Given the description of an element on the screen output the (x, y) to click on. 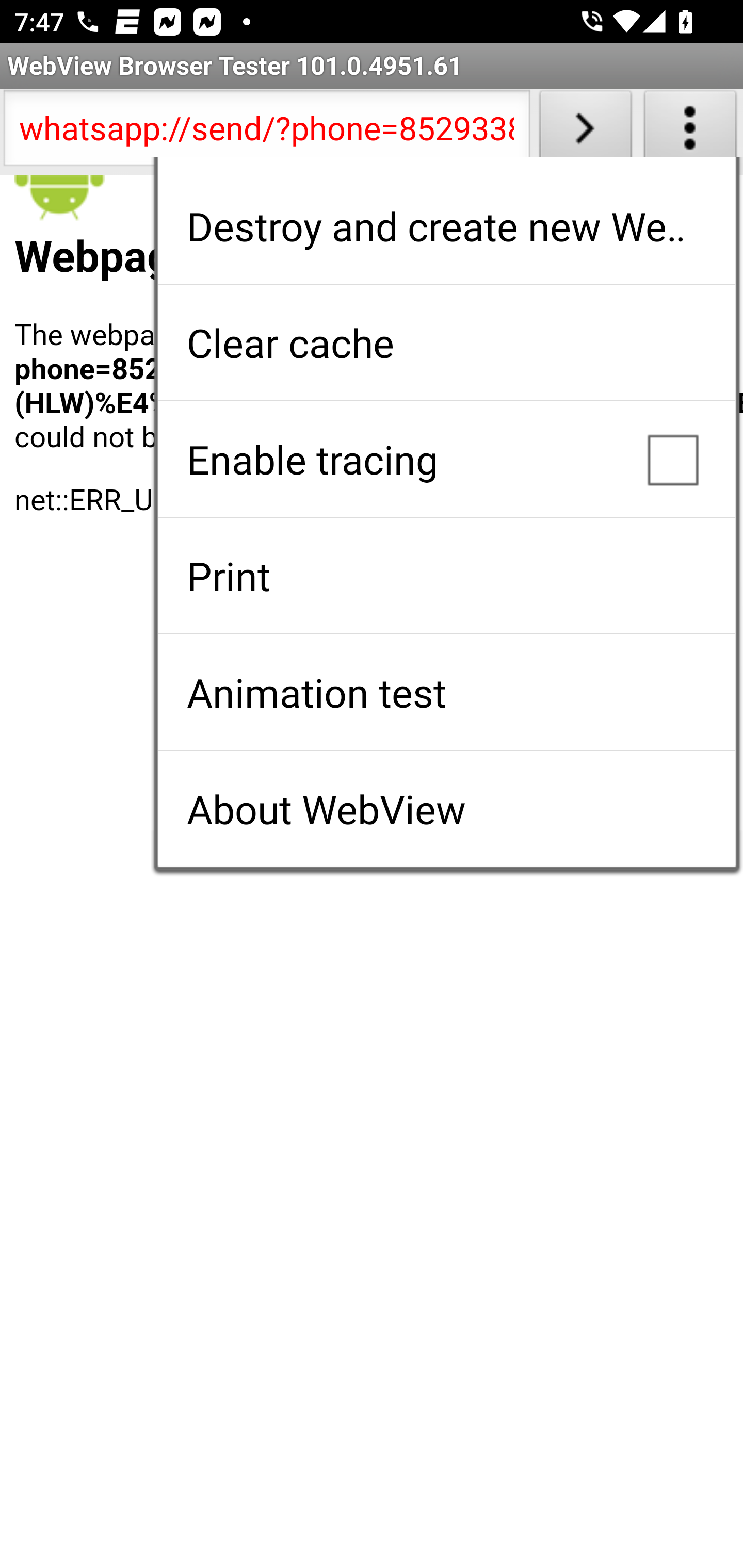
Destroy and create new WebView (446, 225)
Clear cache (446, 342)
Enable tracing (446, 459)
Print (446, 575)
Animation test (446, 692)
About WebView (446, 809)
